Given the description of an element on the screen output the (x, y) to click on. 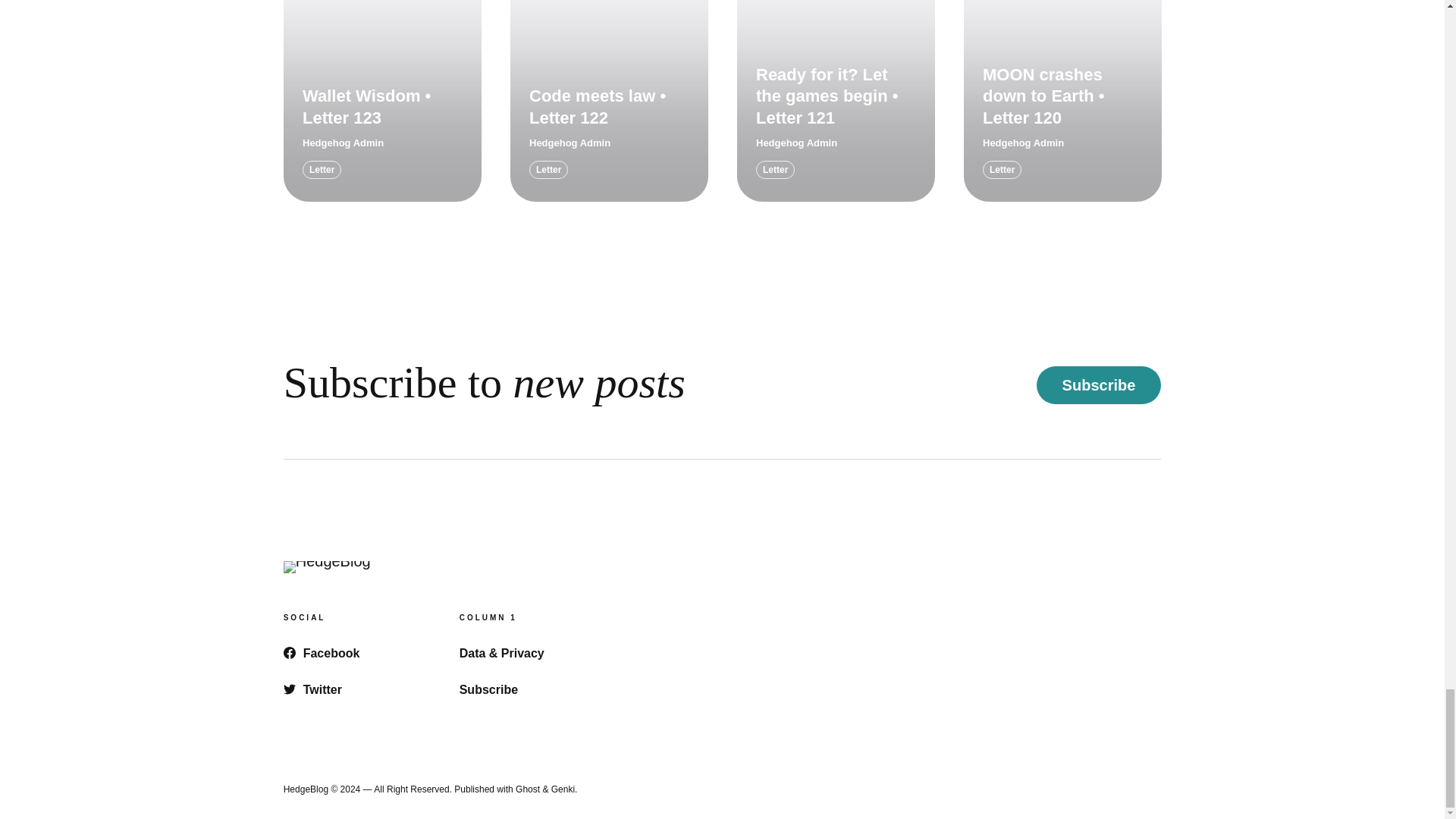
Letter (548, 169)
Letter (321, 169)
Hedgehog Admin (569, 143)
Hedgehog Admin (796, 143)
Hedgehog Admin (343, 143)
